Given the description of an element on the screen output the (x, y) to click on. 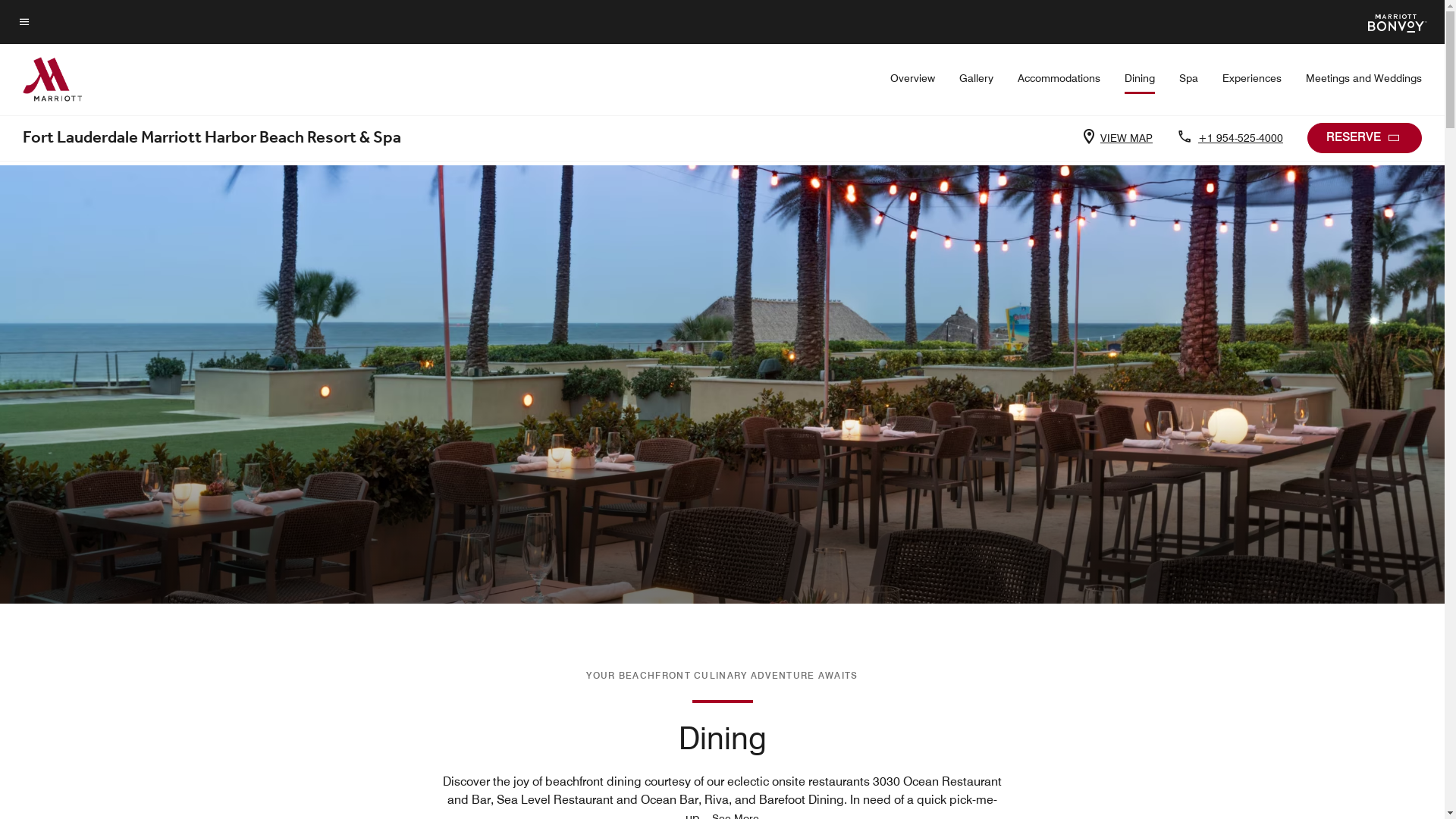
RESERVE Element type: text (1364, 137)
Skip to main content Element type: text (18, 12)
Gallery Element type: text (976, 78)
Spa Element type: text (1188, 78)
Accommodations Element type: text (1058, 78)
Dining Element type: text (1139, 83)
VIEW MAP Element type: text (1123, 137)
+1 954-525-4000 Element type: text (1237, 137)
Experiences Element type: text (1251, 78)
Meetings and Weddings Element type: text (1363, 78)
Overview Element type: text (912, 78)
